Given the description of an element on the screen output the (x, y) to click on. 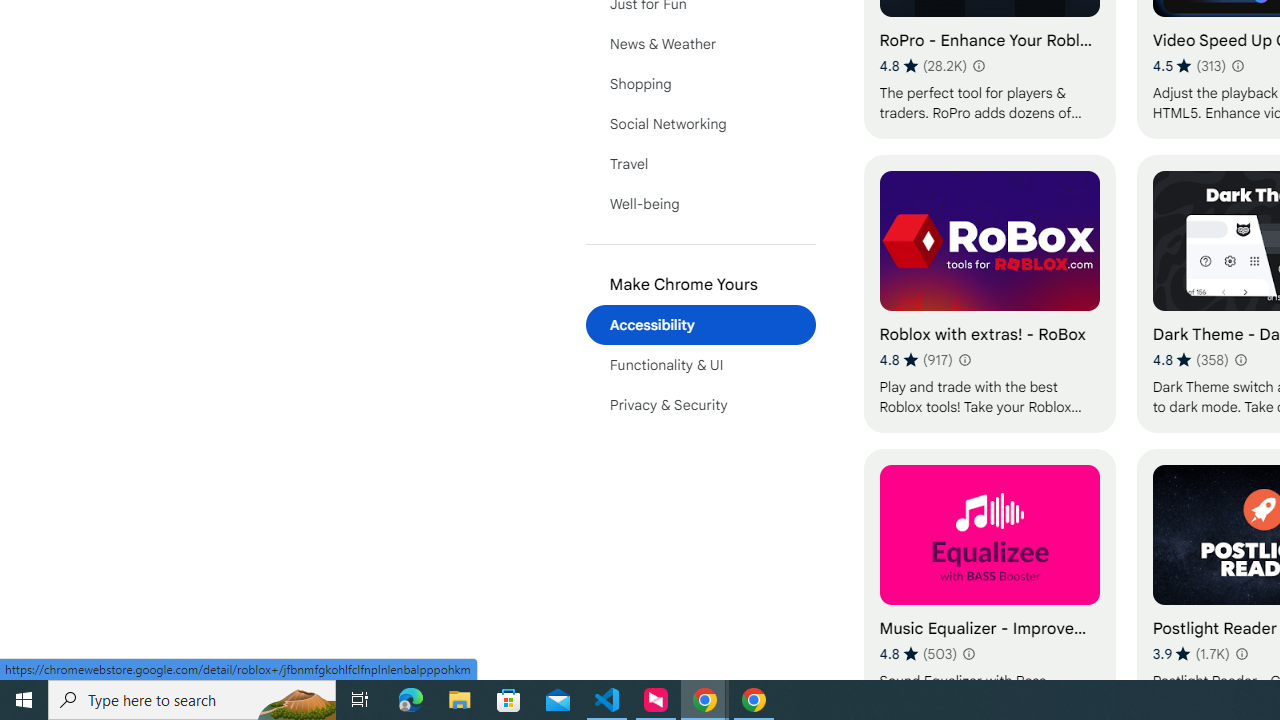
Roblox with extras! - RoBox (989, 293)
Average rating 4.8 out of 5 stars. 503 ratings. (918, 653)
Well-being (700, 203)
News & Weather (700, 43)
